Given the description of an element on the screen output the (x, y) to click on. 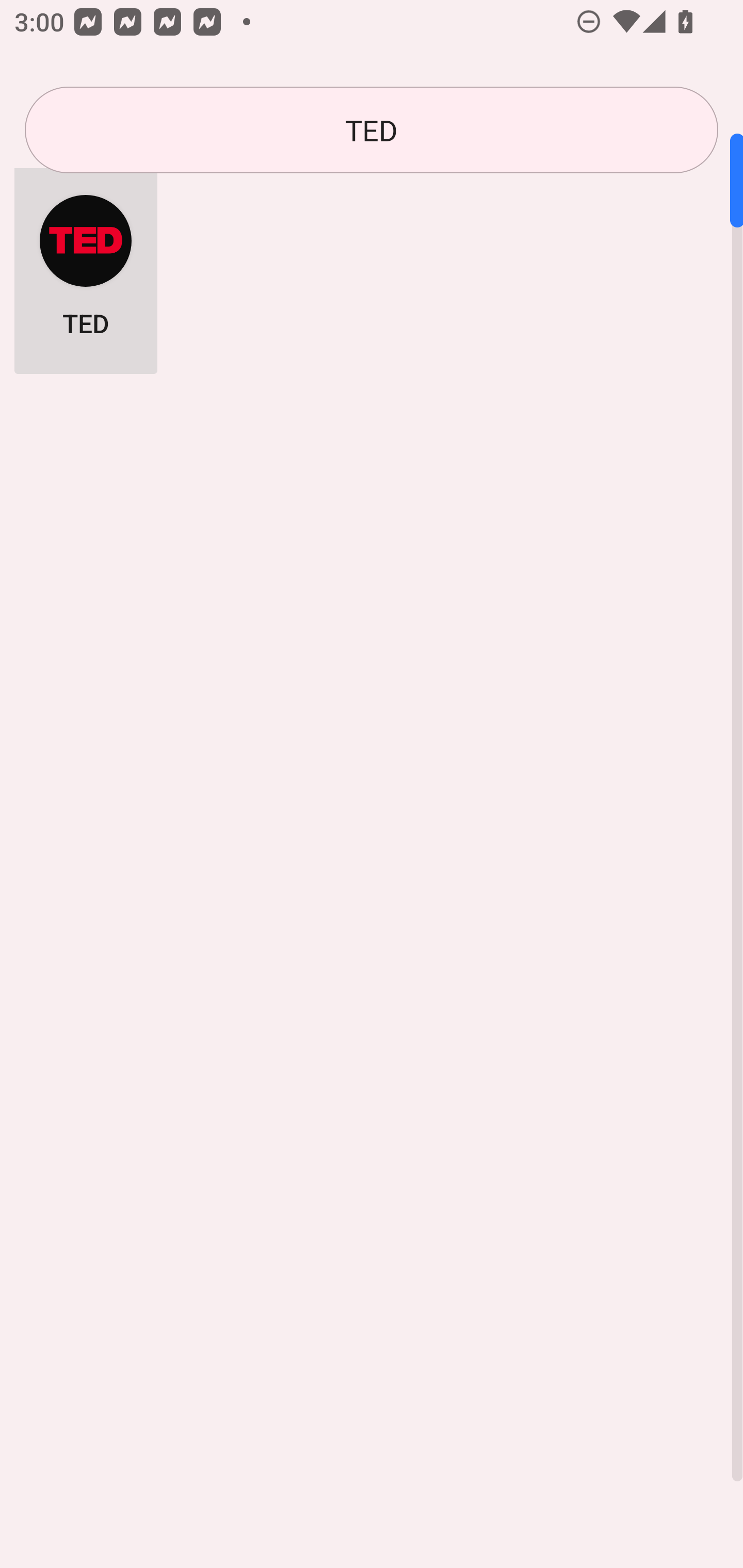
TED (371, 130)
TED (85, 264)
